Given the description of an element on the screen output the (x, y) to click on. 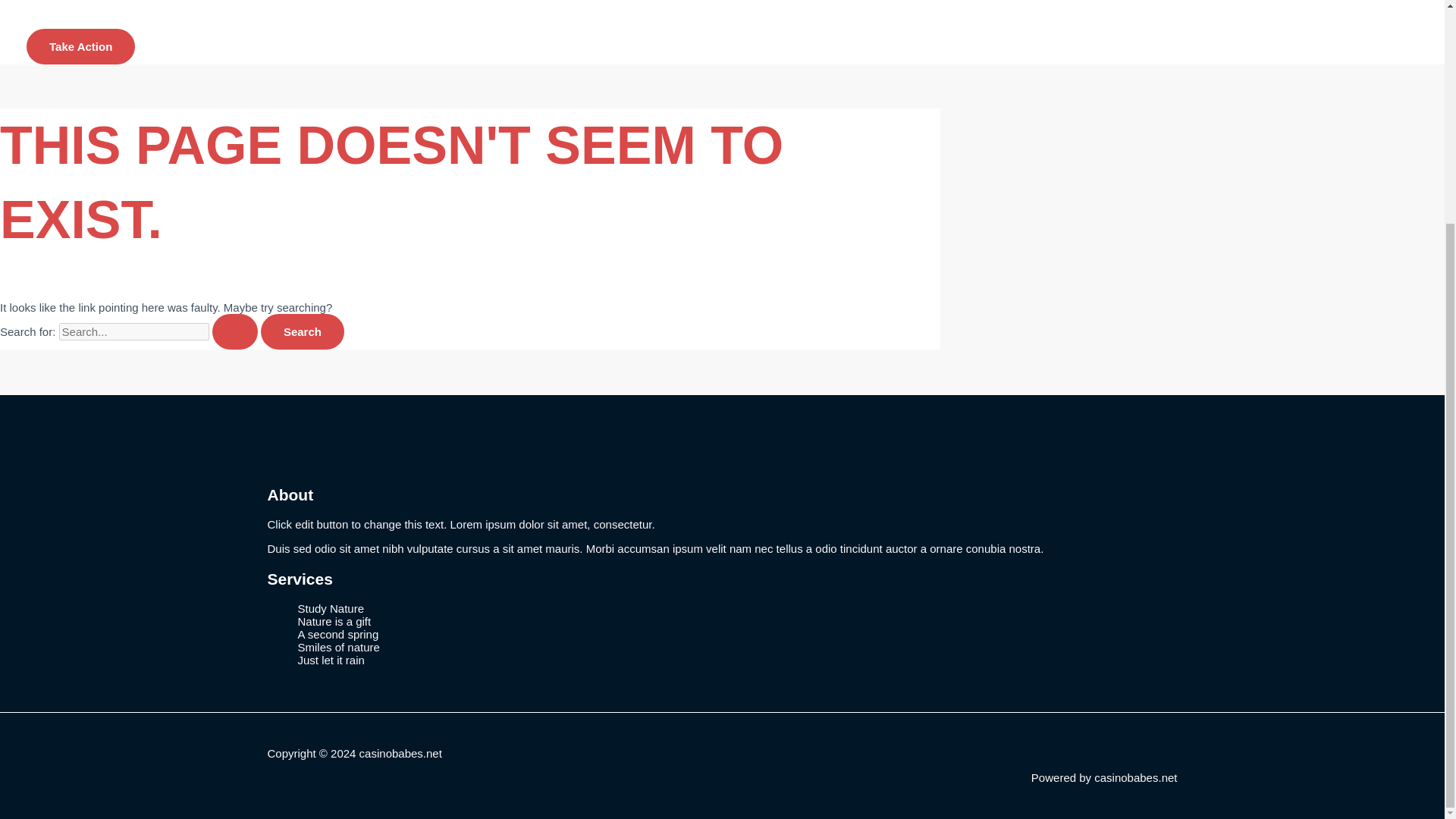
Take Action (80, 46)
Contact (78, 8)
Just let it rain (330, 659)
Nature is a gift (334, 621)
Search (301, 331)
A second spring (337, 634)
Study Nature (330, 608)
Smiles of nature (337, 646)
Search (301, 331)
Search (301, 331)
